Given the description of an element on the screen output the (x, y) to click on. 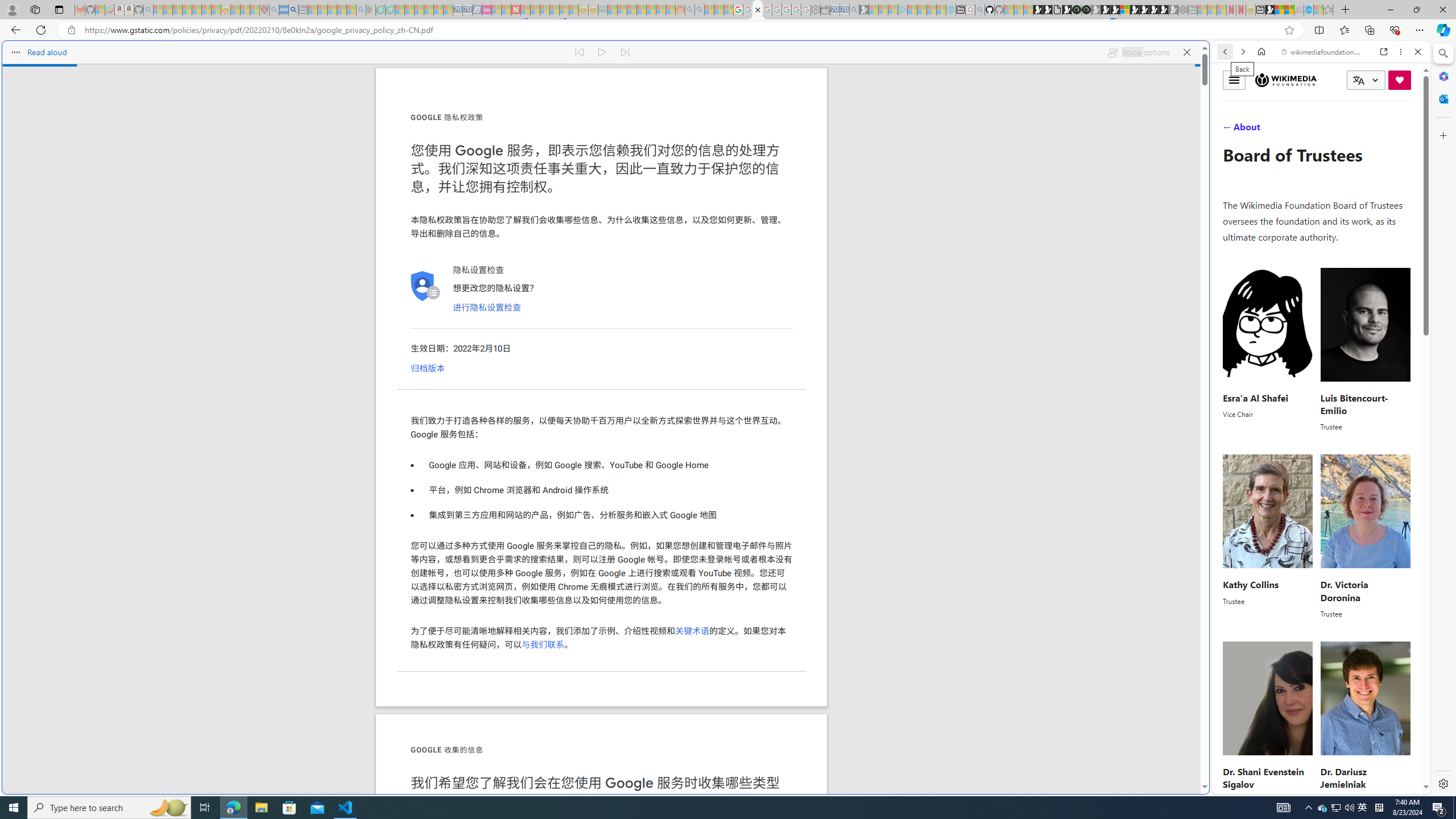
Search or enter web address (922, 108)
utah sues federal government - Search (292, 9)
Wikimedia Foundation (1286, 79)
